Given the description of an element on the screen output the (x, y) to click on. 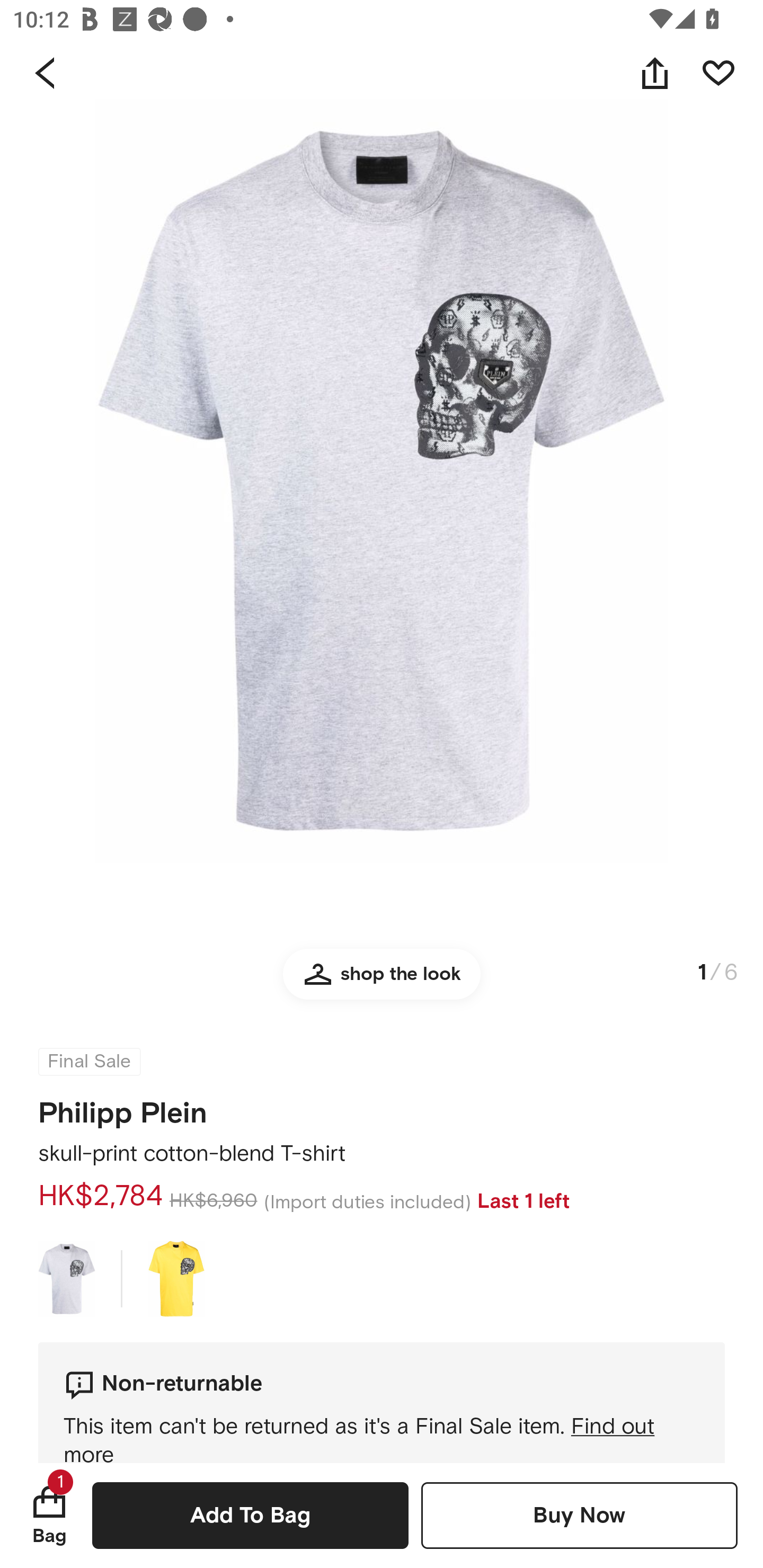
shop the look (381, 982)
Philipp Plein (122, 1107)
Bag 1 (49, 1515)
Add To Bag (250, 1515)
Buy Now (579, 1515)
